Given the description of an element on the screen output the (x, y) to click on. 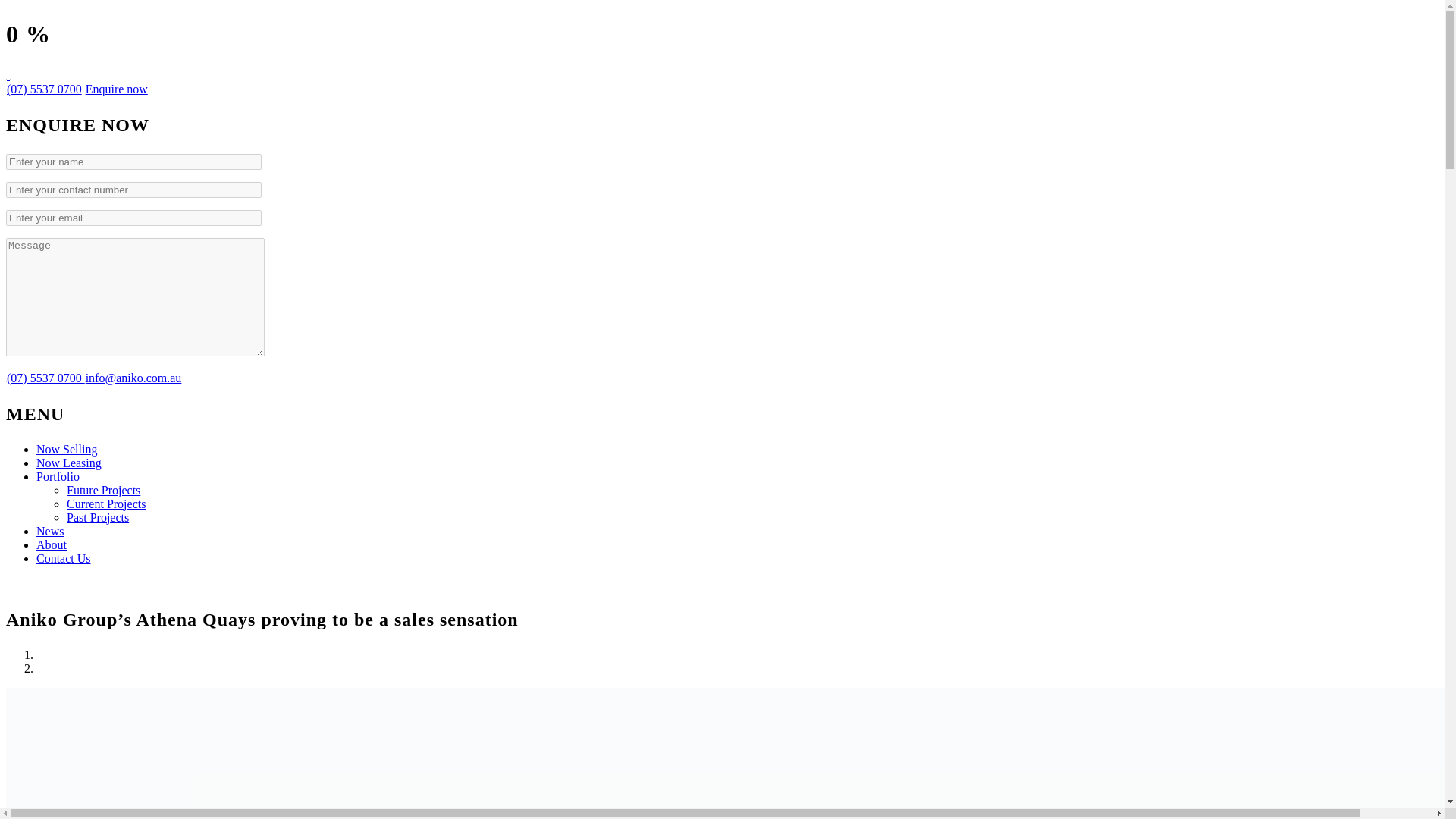
Now Leasing (68, 462)
Past Projects (97, 517)
News (50, 530)
About (51, 544)
Portfolio (58, 476)
Now Selling (66, 449)
Future Projects (102, 490)
Submit (21, 7)
Enquire now (116, 88)
Current Projects (105, 503)
